Given the description of an element on the screen output the (x, y) to click on. 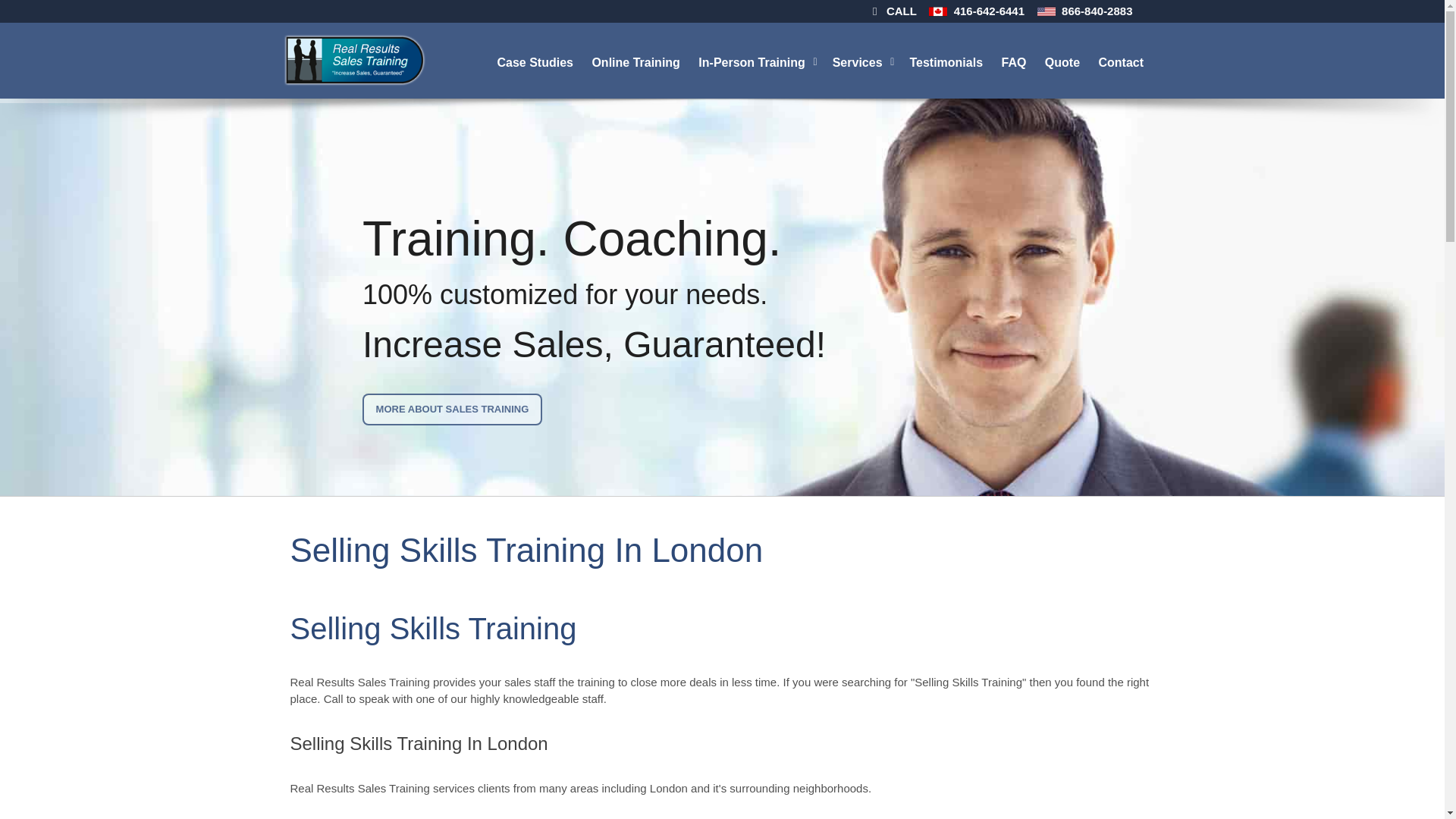
Case Studies  (536, 60)
416-642-6441 (989, 10)
Call in the US for Sales Training (1045, 12)
Call in Canada for Sales Training (937, 12)
Home - Real Results Sales Training (353, 59)
In-Person Training   (757, 60)
866-840-2883 (1096, 10)
 MORE ABOUT SALES TRAINING  (451, 409)
Online Training  (636, 60)
Services   (863, 60)
Testimonials  (946, 60)
